Given the description of an element on the screen output the (x, y) to click on. 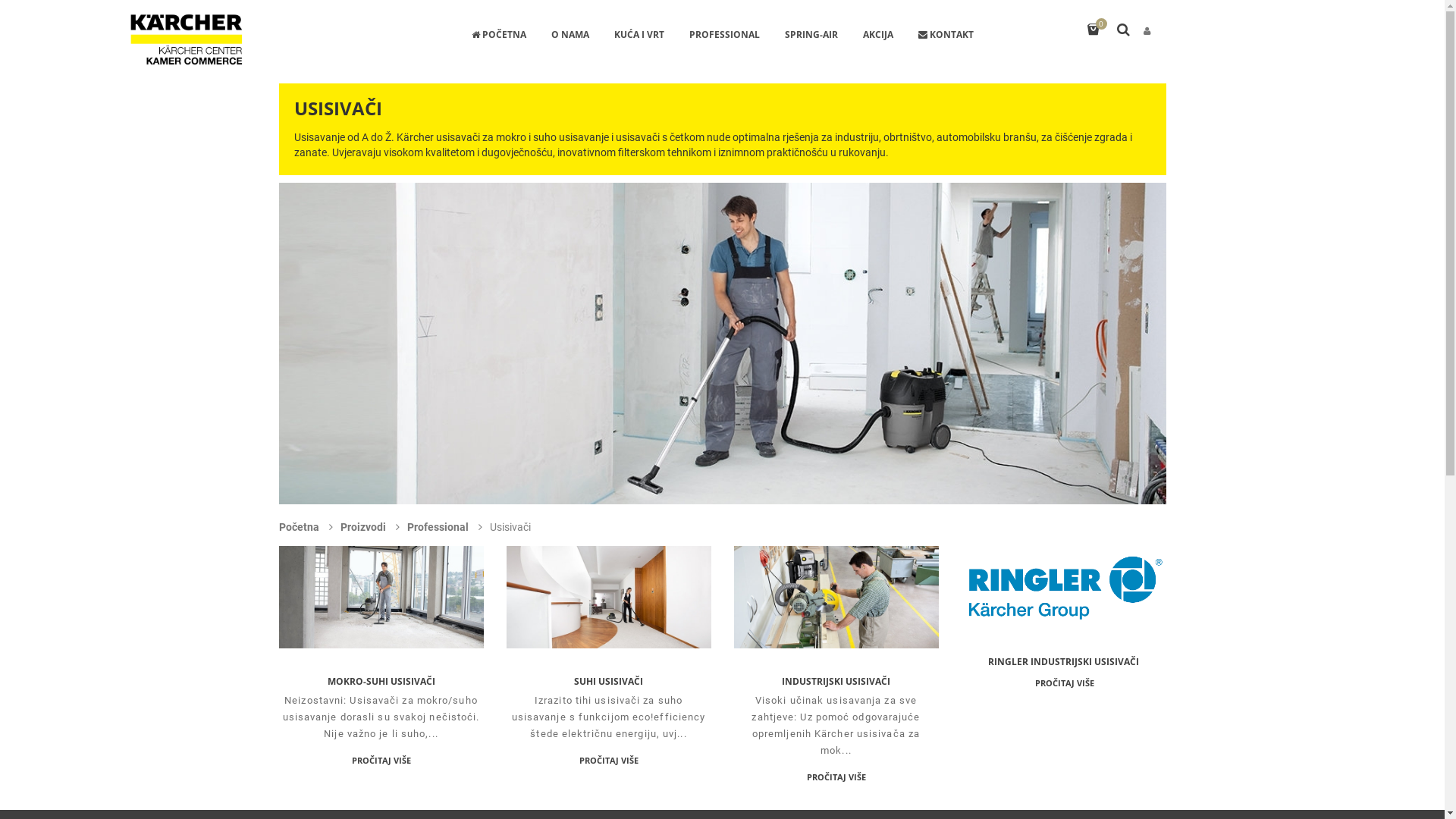
SPRING-AIR Element type: text (811, 35)
KONTAKT Element type: text (945, 35)
O NAMA Element type: text (569, 35)
PROFESSIONAL Element type: text (724, 35)
Proizvodi Element type: text (363, 526)
Professional Element type: text (438, 526)
AKCIJA Element type: text (876, 35)
